Given the description of an element on the screen output the (x, y) to click on. 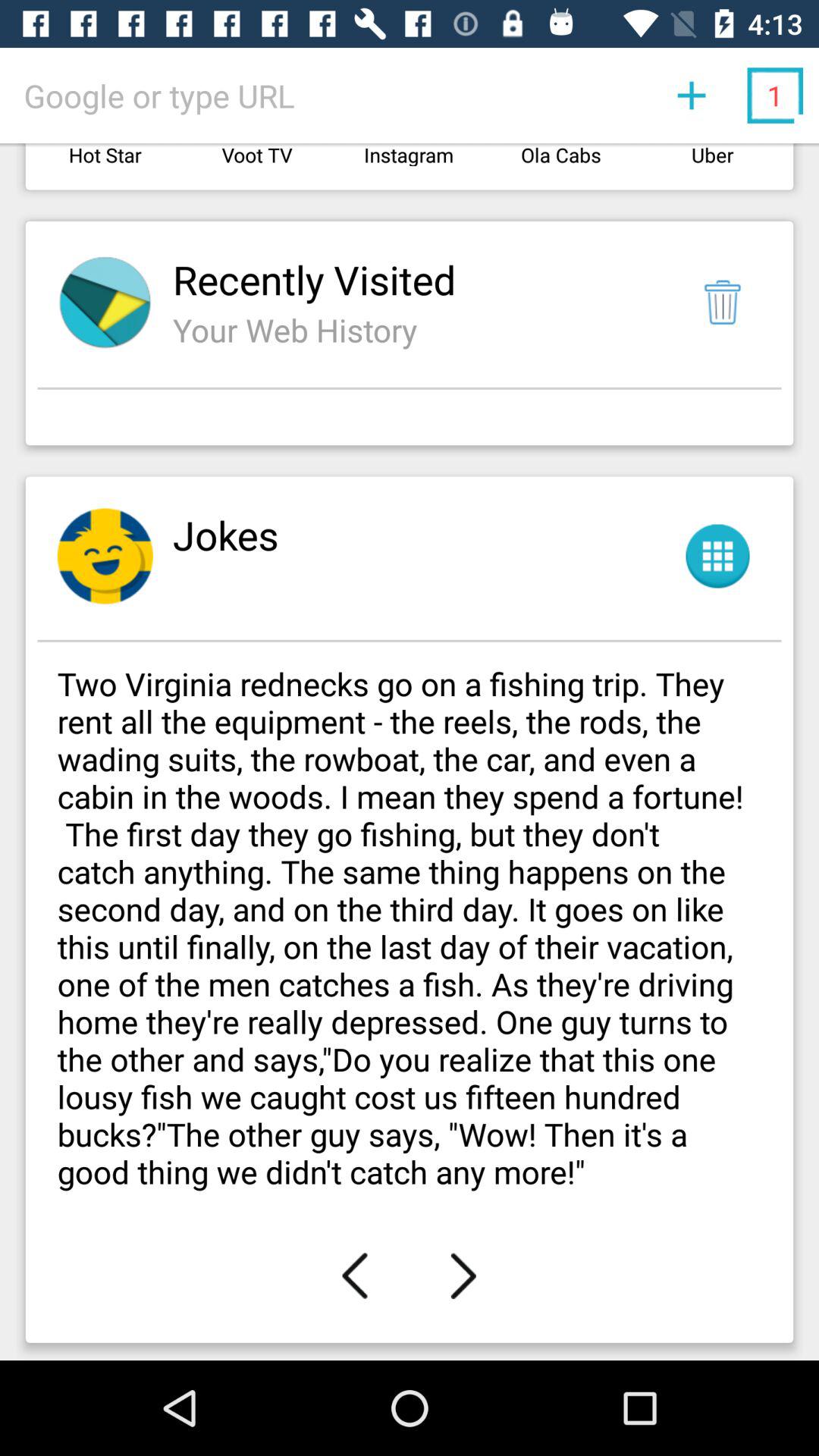
turn off the item to the left of 1 icon (691, 95)
